Given the description of an element on the screen output the (x, y) to click on. 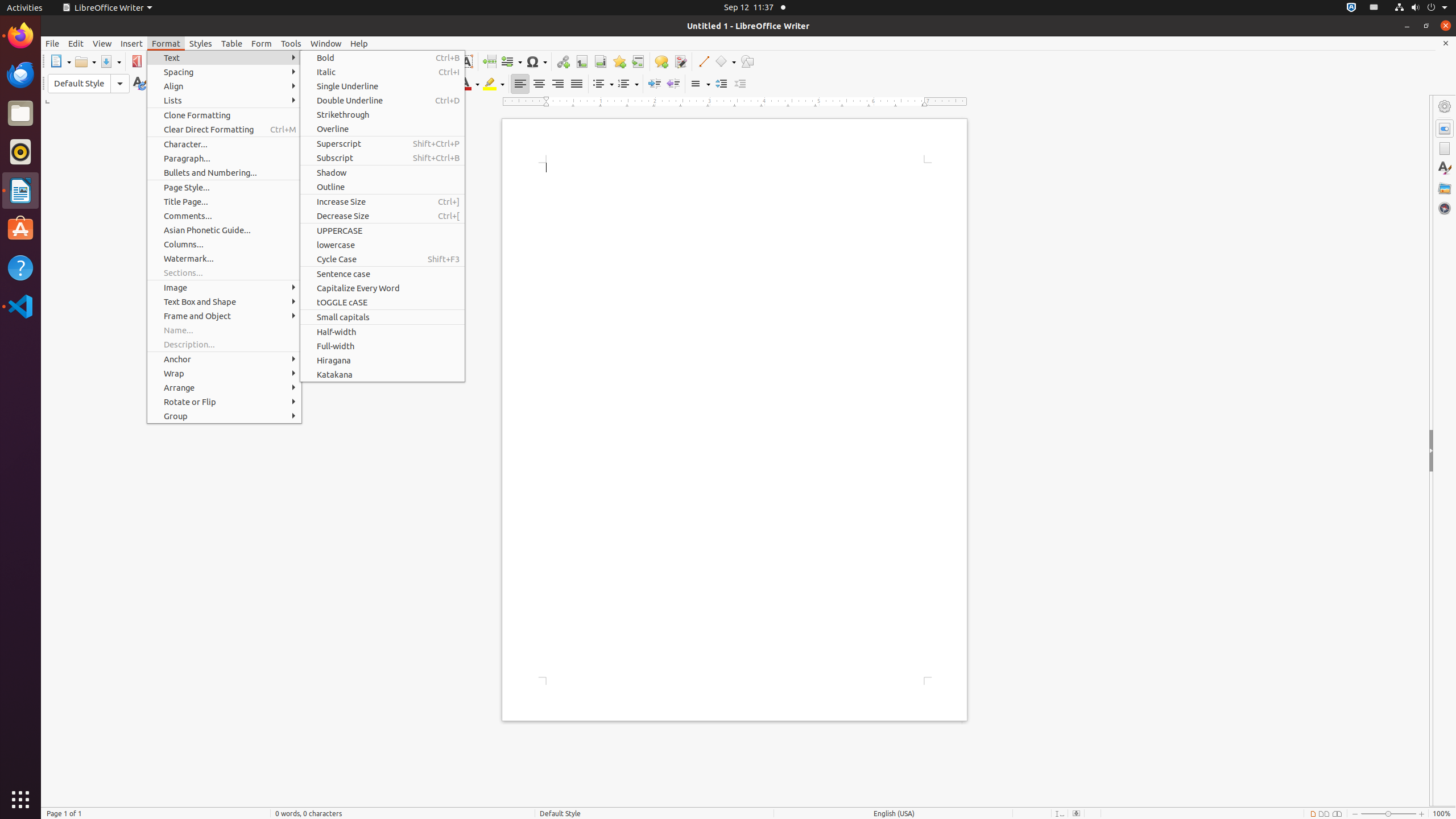
Increase Element type: push-button (721, 83)
Image Element type: menu (224, 287)
Navigator Element type: radio-button (1444, 208)
Save Element type: push-button (109, 61)
PDF Element type: push-button (136, 61)
